Given the description of an element on the screen output the (x, y) to click on. 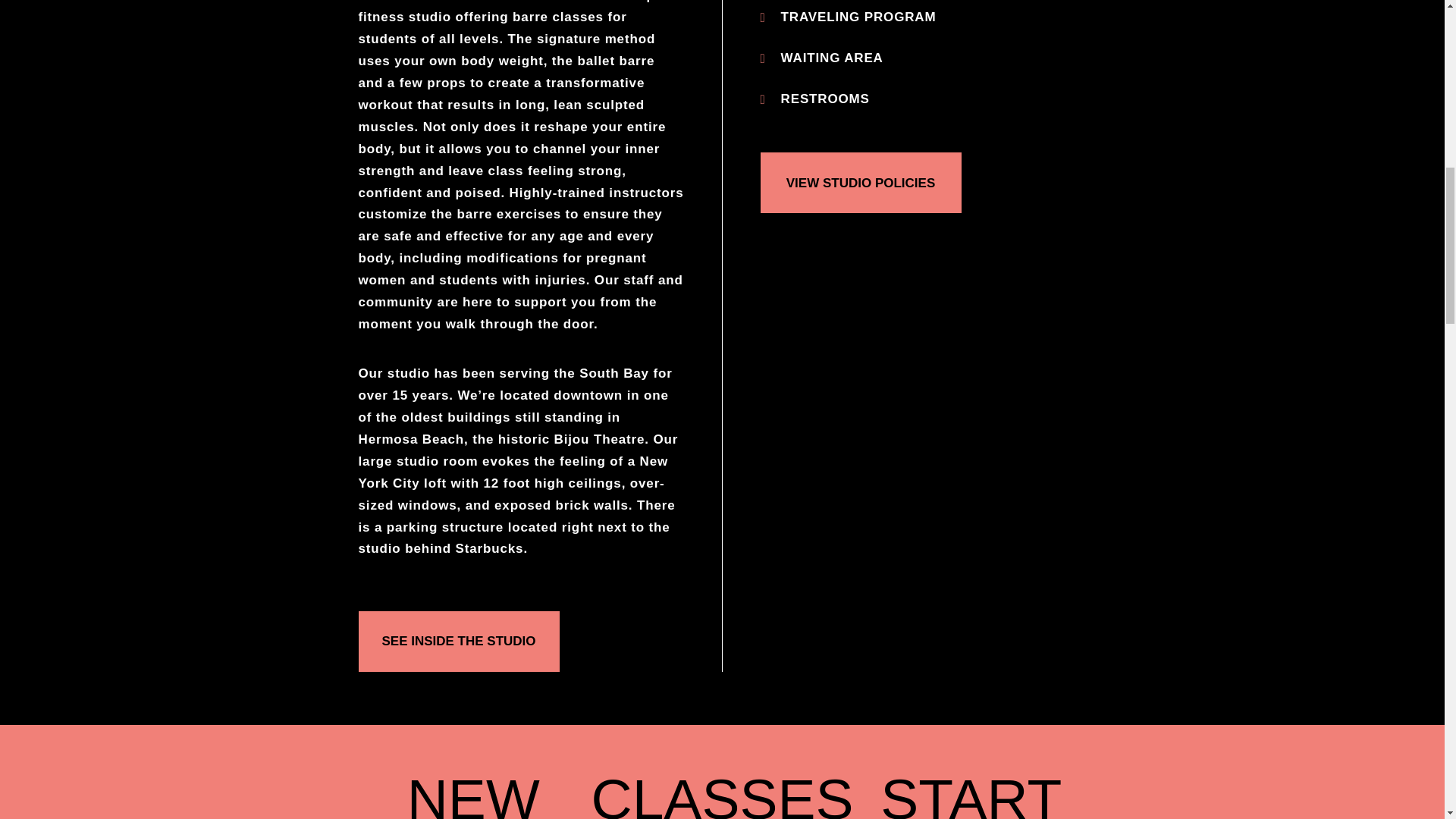
VIEW STUDIO POLICIES (860, 182)
SEE INSIDE THE STUDIO (458, 640)
